Given the description of an element on the screen output the (x, y) to click on. 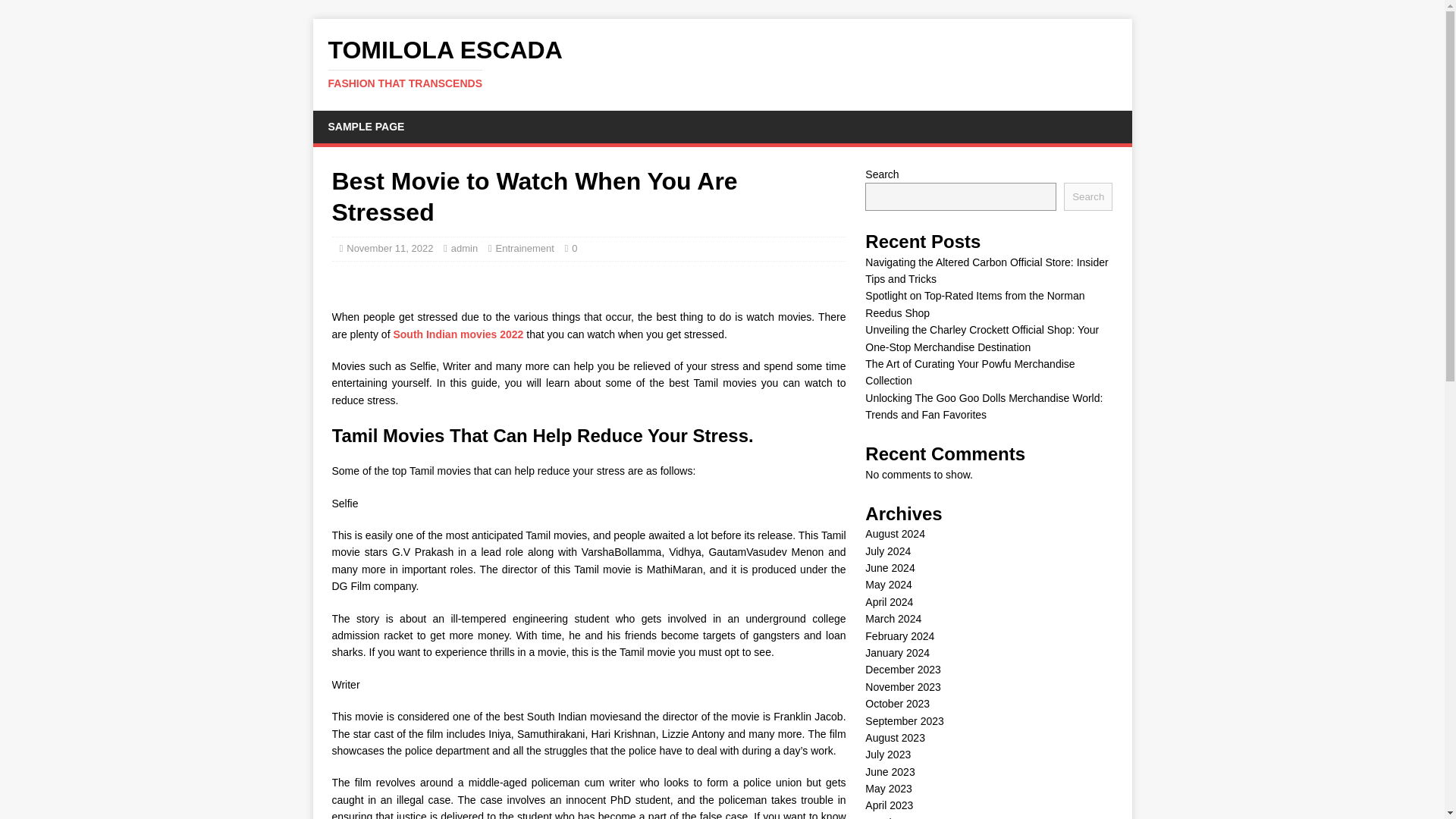
June 2023 (889, 771)
August 2024 (894, 533)
October 2023 (897, 703)
July 2023 (887, 754)
Spotlight on Top-Rated Items from the Norman Reedus Shop (974, 303)
January 2024 (721, 63)
November 2023 (897, 653)
May 2023 (902, 686)
Tomilola Escada (887, 788)
